Given the description of an element on the screen output the (x, y) to click on. 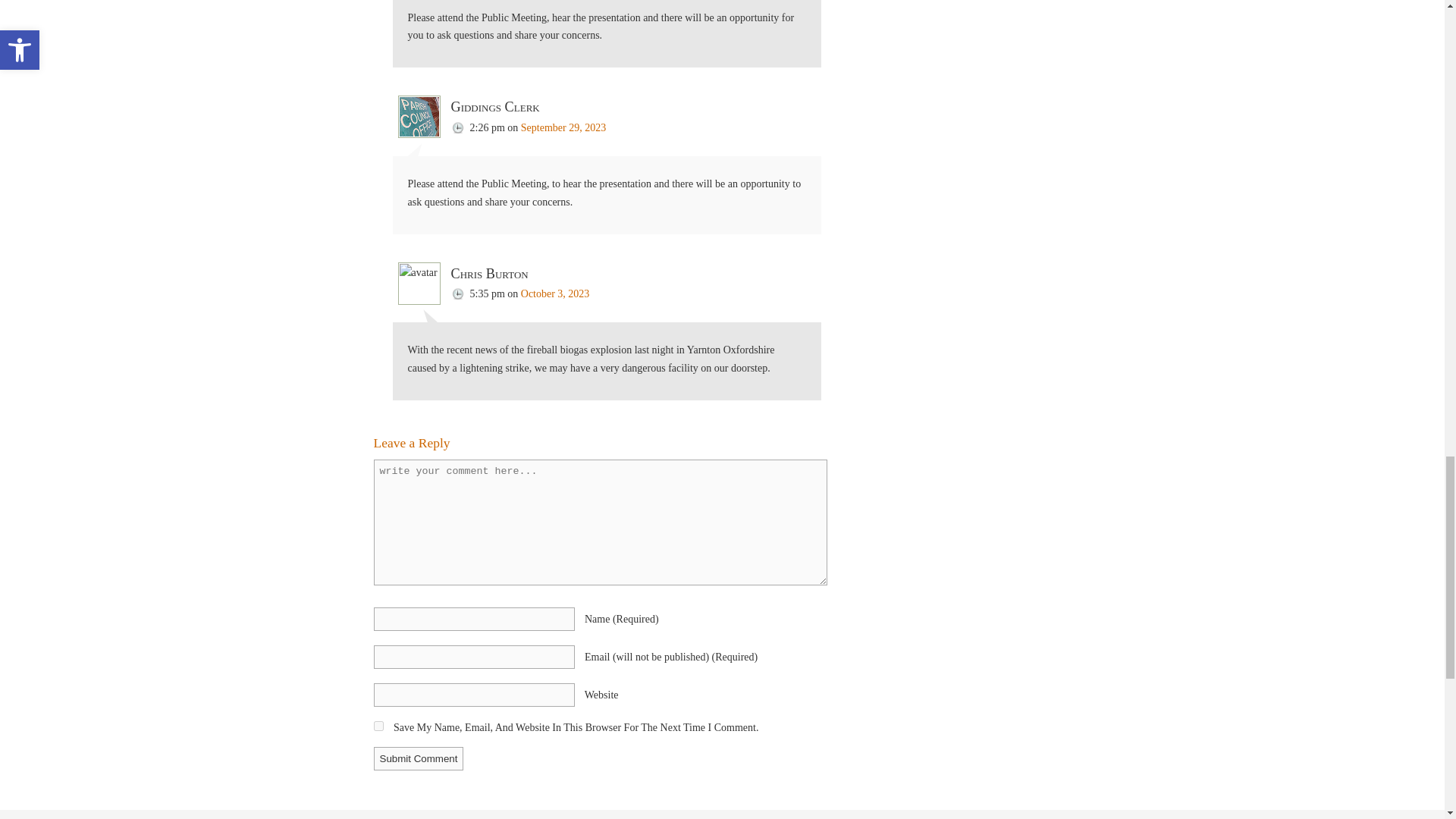
September 29, 2023 (563, 127)
October 3, 2023 (555, 293)
yes (377, 726)
Submit Comment (417, 758)
